Given the description of an element on the screen output the (x, y) to click on. 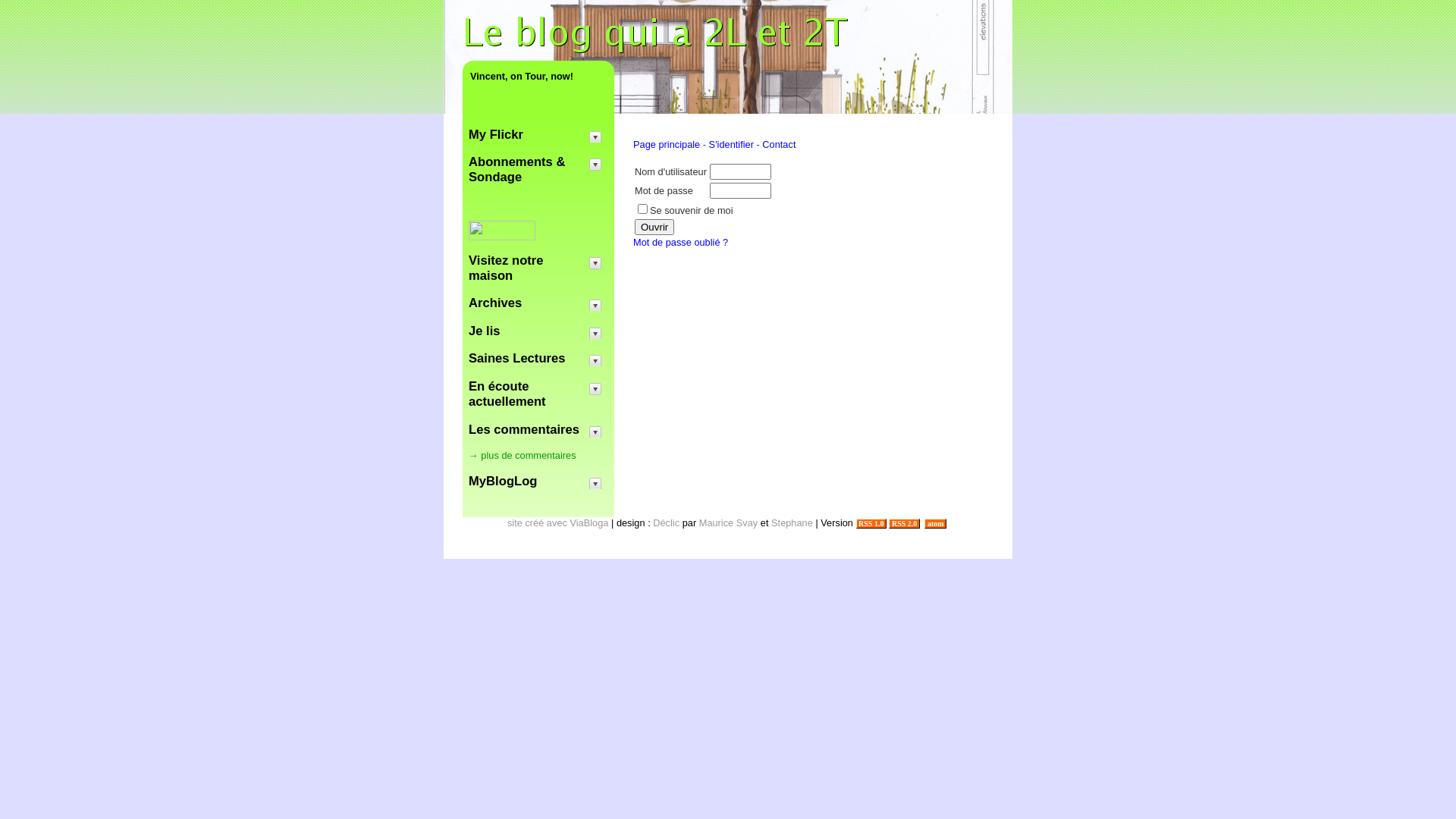
 RSS 1.0  Element type: text (871, 522)
Page principale Element type: text (666, 144)
 RSS 2.0  Element type: text (903, 522)
 atom  Element type: text (935, 523)
Vincent, on Tour, now! Element type: text (538, 75)
S'identifier Element type: text (731, 144)
Maurice Svay Element type: text (728, 522)
Ouvrir Element type: text (654, 227)
Stephane Element type: text (791, 522)
Contact Element type: text (778, 144)
